Given the description of an element on the screen output the (x, y) to click on. 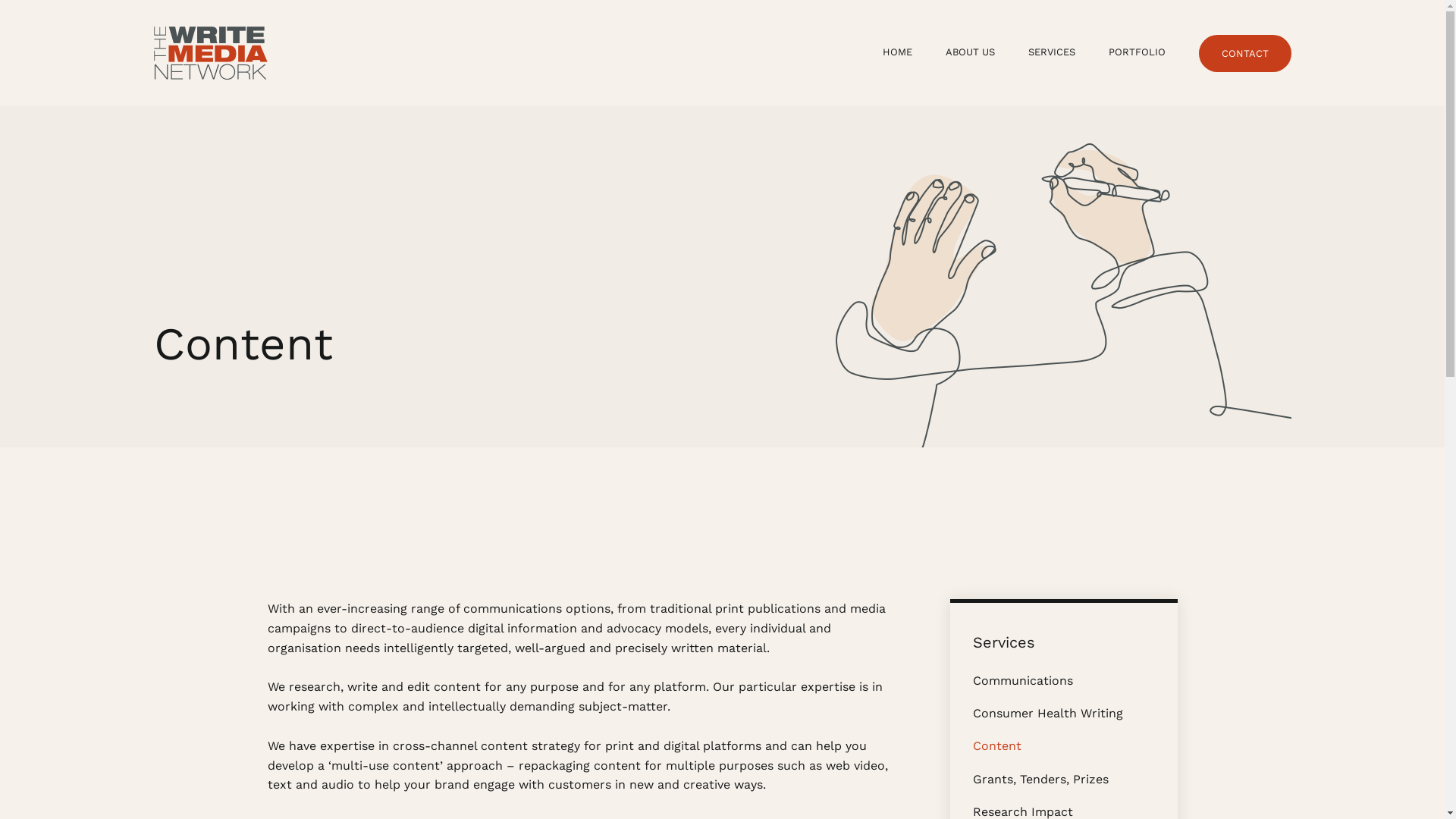
SERVICES Element type: text (1051, 51)
Grants, Tenders, Prizes Element type: text (1039, 778)
HOME Element type: text (897, 51)
Communications Element type: text (1022, 680)
CONTACT Element type: text (1244, 53)
Consumer Health Writing Element type: text (1047, 713)
Services Element type: text (1003, 642)
ABOUT US Element type: text (969, 51)
Content Element type: text (996, 745)
PORTFOLIO Element type: text (1136, 51)
